Given the description of an element on the screen output the (x, y) to click on. 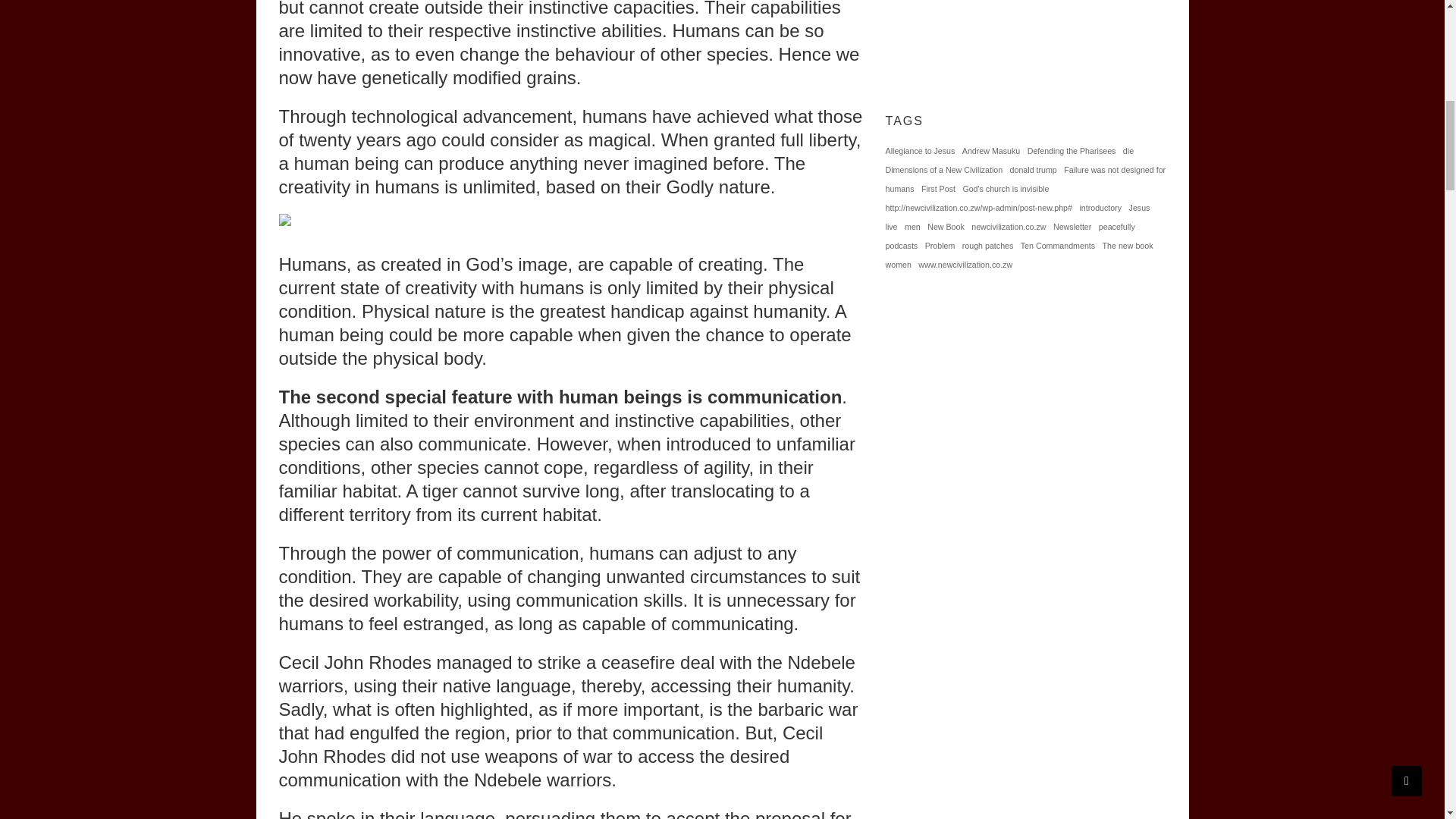
Andrew Masuku (991, 150)
Allegiance to Jesus (920, 150)
Defending the Pharisees (1071, 150)
